Given the description of an element on the screen output the (x, y) to click on. 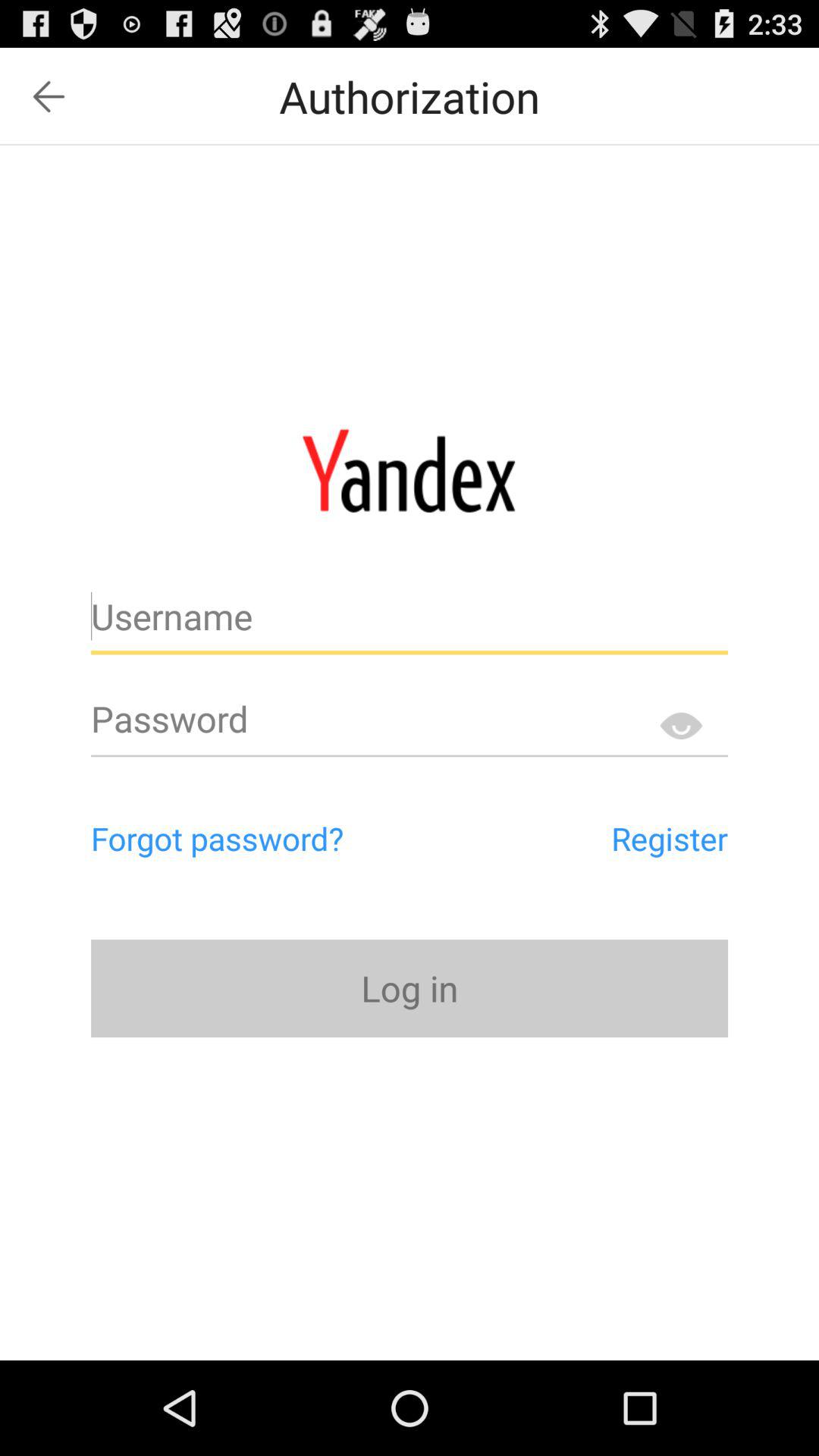
turn on forgot password? app (282, 837)
